Given the description of an element on the screen output the (x, y) to click on. 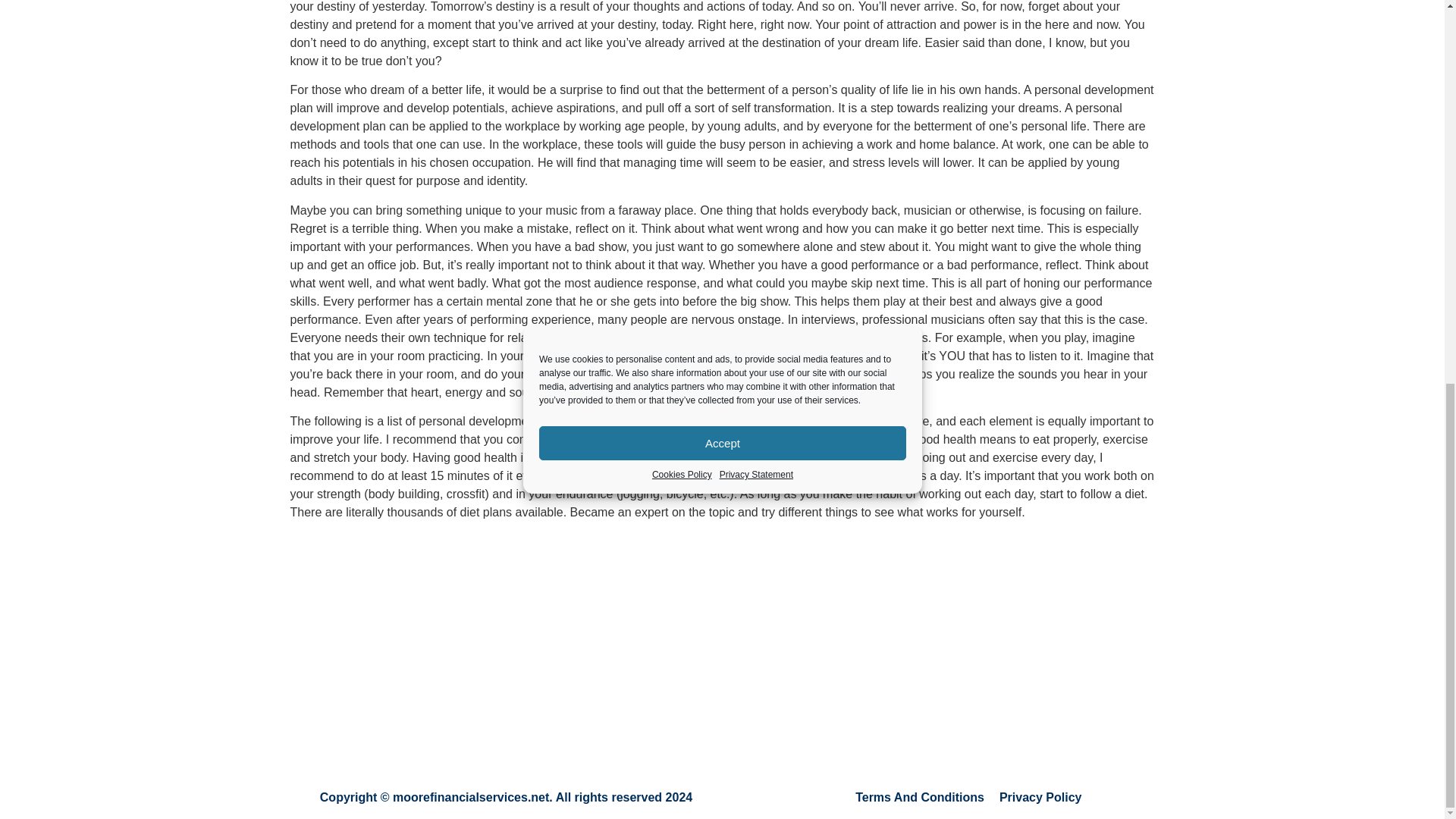
Terms And Conditions (920, 797)
moorefinancialservices.net (470, 797)
Privacy Policy (1039, 797)
